Given the description of an element on the screen output the (x, y) to click on. 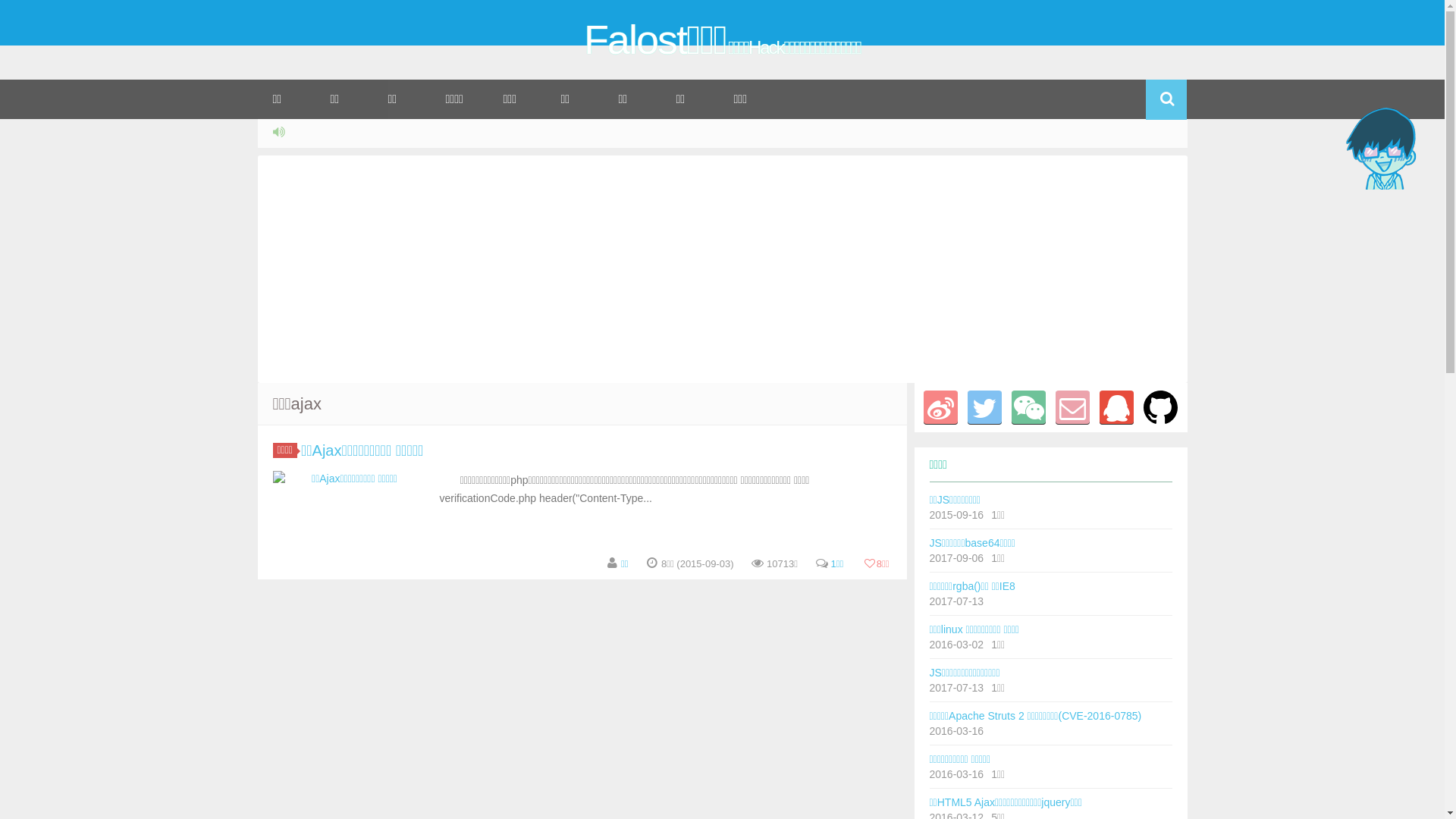
Advertisement Element type: hover (721, 269)
